Given the description of an element on the screen output the (x, y) to click on. 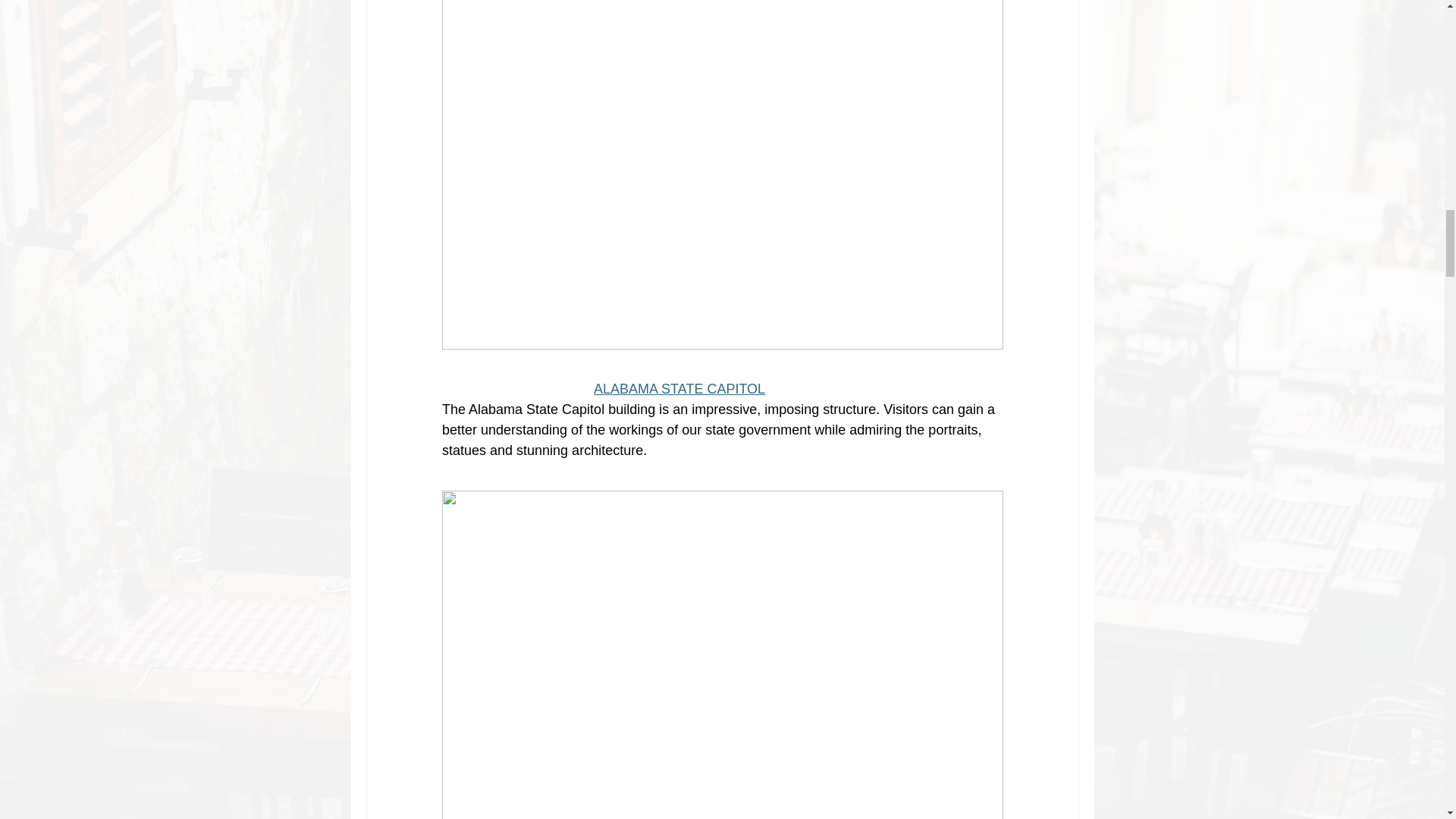
ALABAMA STATE CAPITOL (679, 388)
